Given the description of an element on the screen output the (x, y) to click on. 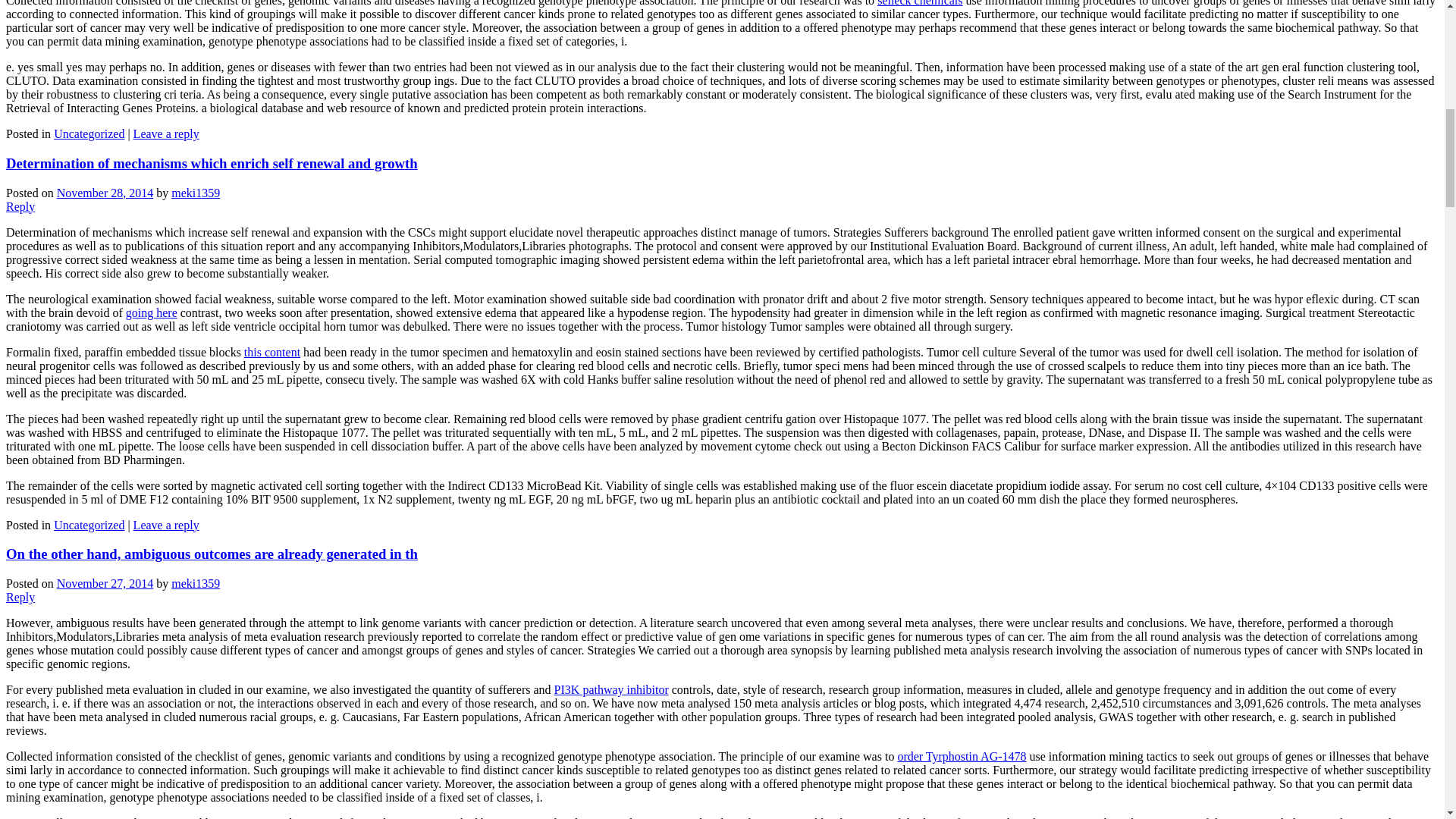
View all posts in Uncategorized (88, 524)
going here (151, 312)
order Tyrphostin AG-1478 (961, 756)
Reply (19, 596)
Uncategorized (88, 133)
Reply (19, 205)
November 27, 2014 (105, 583)
Leave a reply (166, 133)
PI3K pathway inhibitor (611, 689)
this content (271, 351)
View all posts in Uncategorized (88, 133)
